Given the description of an element on the screen output the (x, y) to click on. 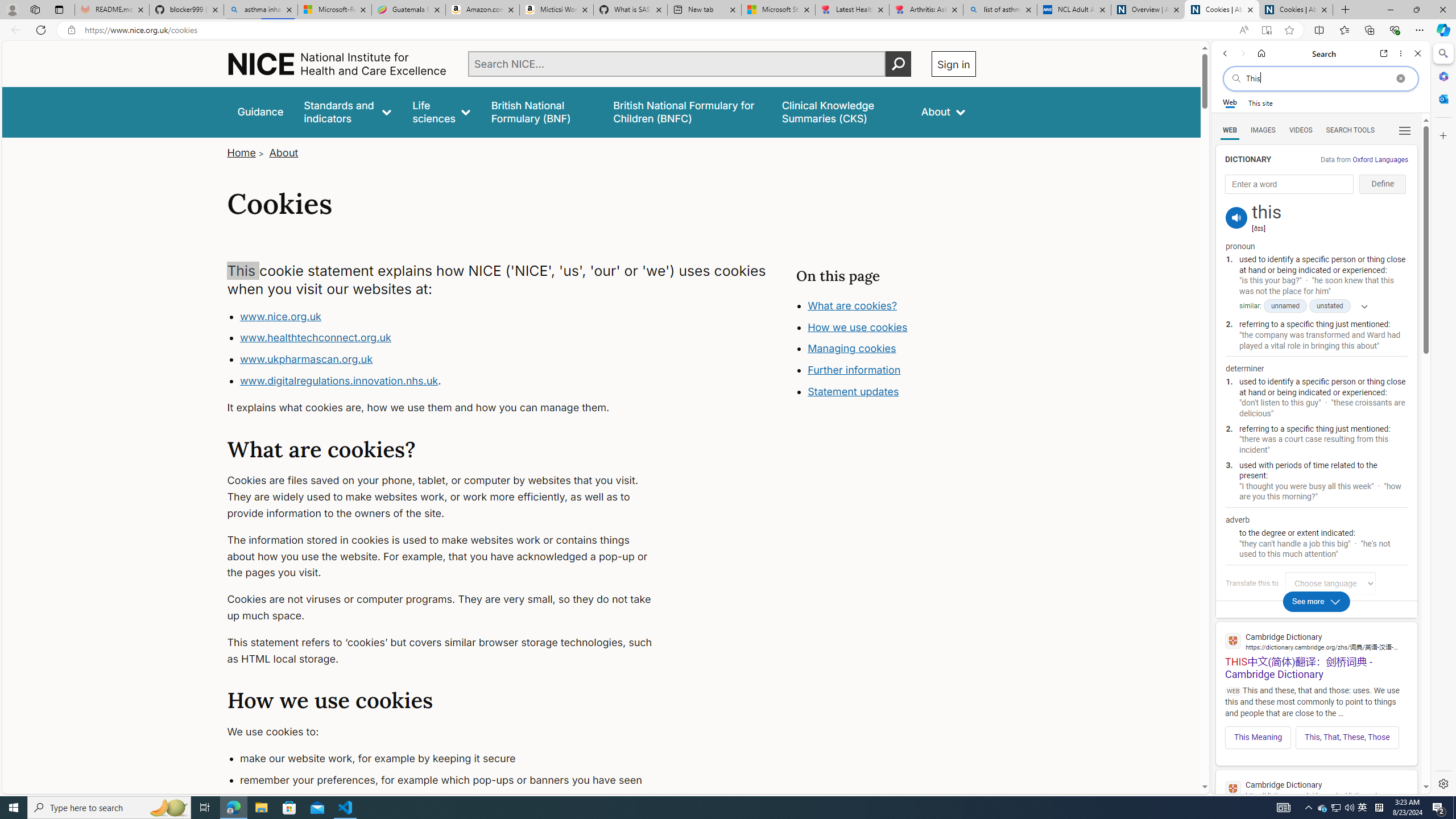
Cookies | About | NICE (1295, 9)
www.healthtechconnect.org.uk (452, 338)
www.digitalregulations.innovation.nhs.uk (338, 380)
Define (1382, 184)
How we use cookies (896, 389)
www.digitalregulations.innovation.nhs.uk. (452, 380)
